Given the description of an element on the screen output the (x, y) to click on. 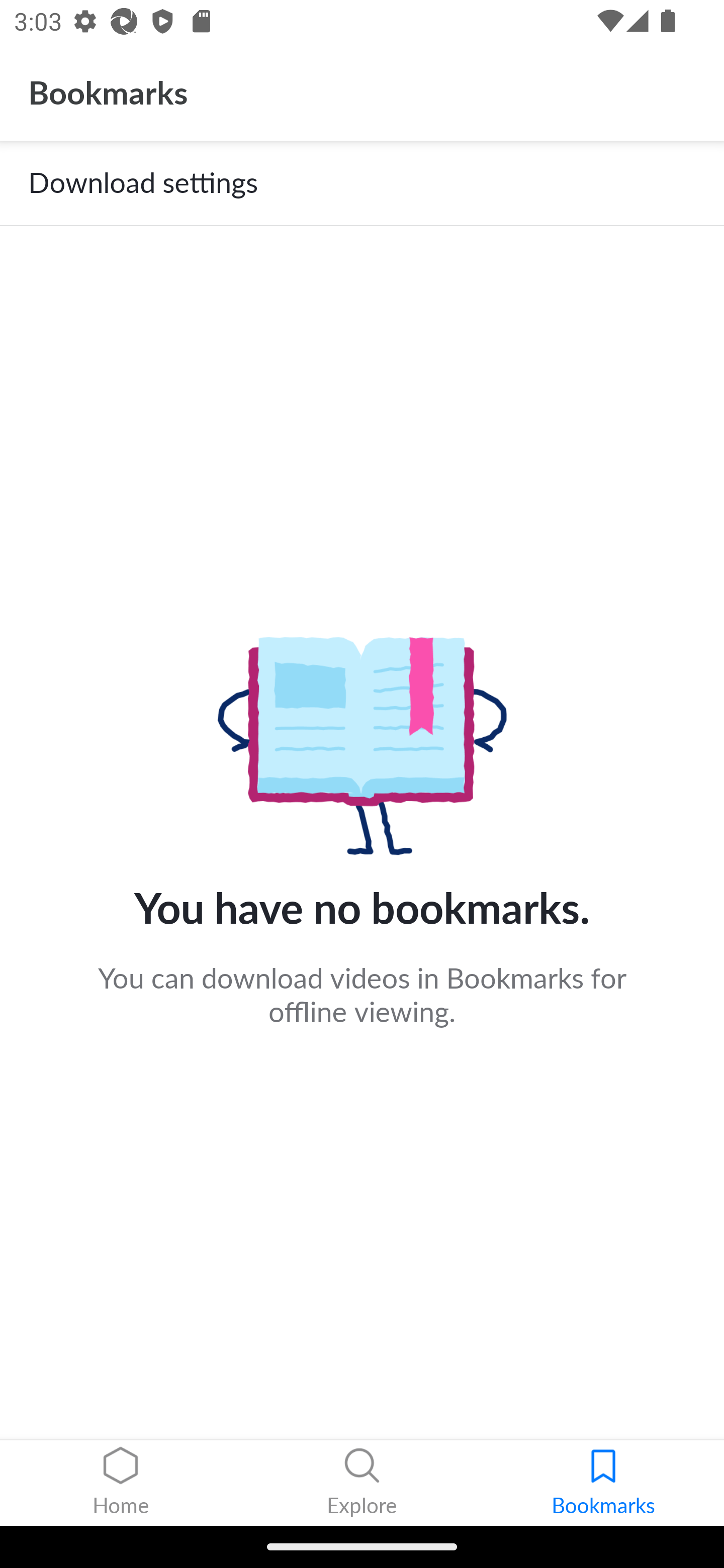
Download settings (362, 183)
Home (120, 1482)
Explore (361, 1482)
Bookmarks (603, 1482)
